Given the description of an element on the screen output the (x, y) to click on. 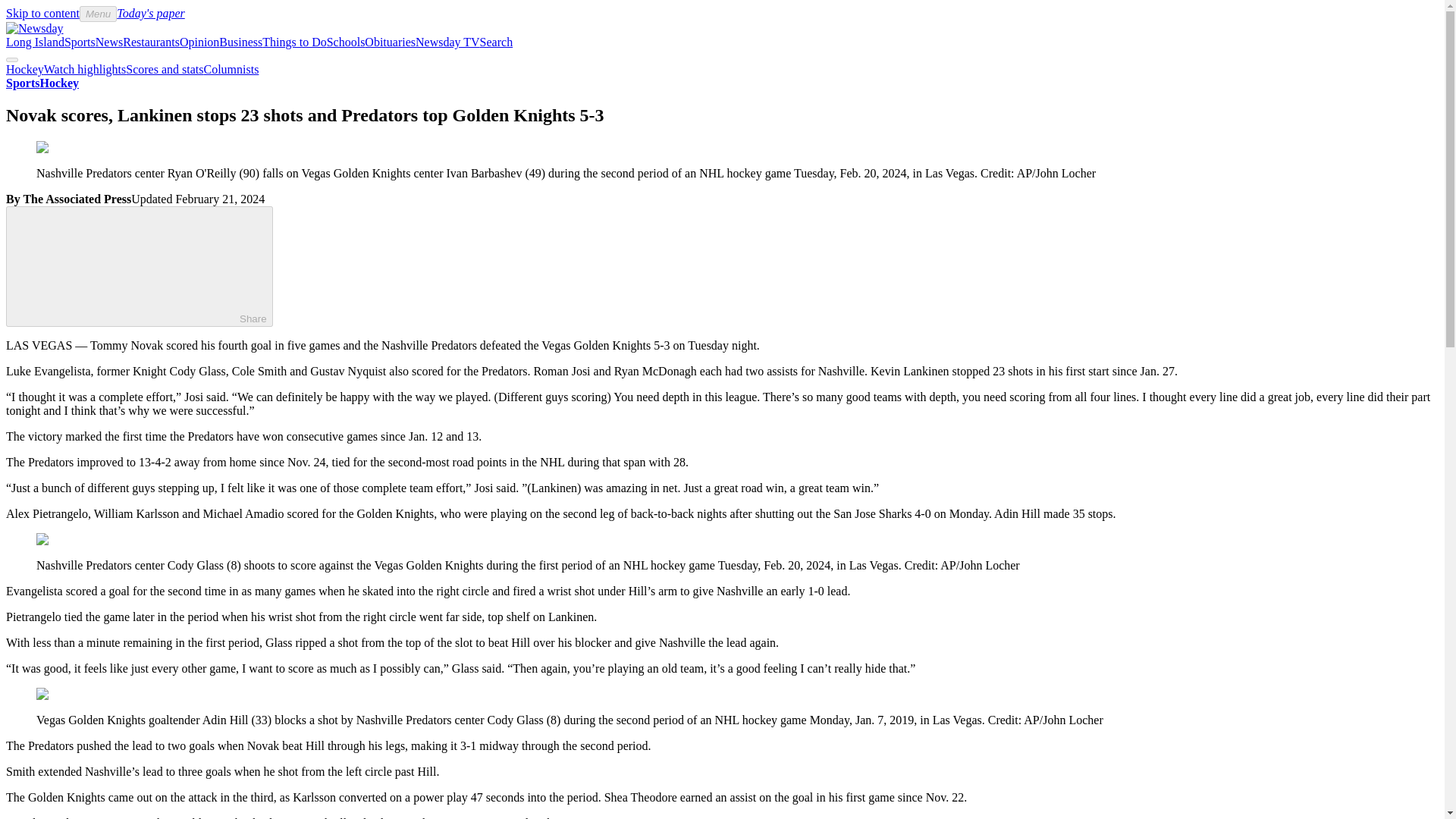
Sports (80, 42)
Watch highlights (84, 69)
Share (139, 266)
Long Island (34, 42)
Search (496, 42)
Hockey (58, 82)
Business (240, 42)
Columnists (231, 69)
Schools (345, 42)
Sports (22, 82)
Obituaries (389, 42)
Skip to content (42, 12)
Opinion (199, 42)
Hockey (24, 69)
Menu (98, 13)
